Given the description of an element on the screen output the (x, y) to click on. 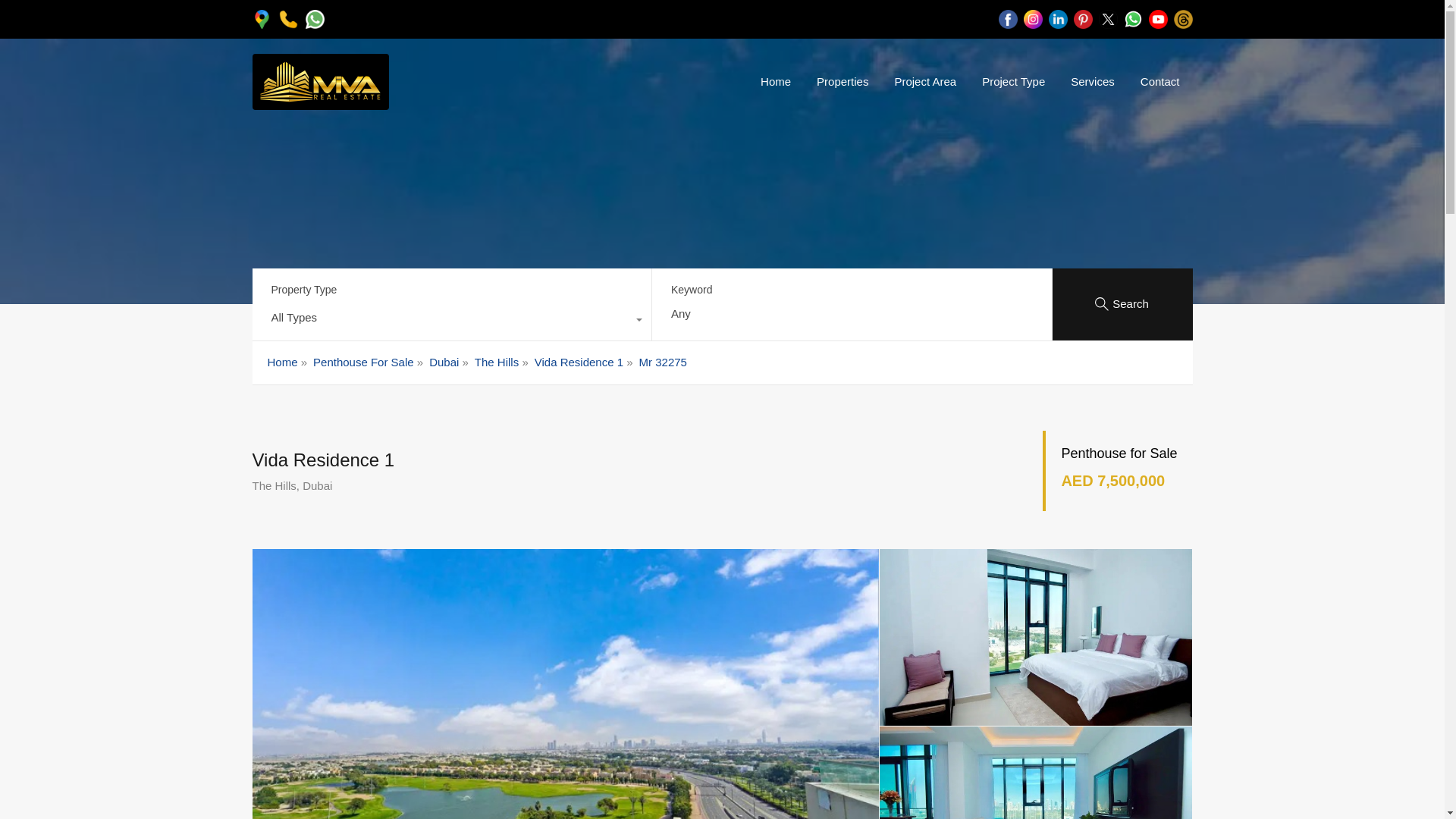
Miva Real Estate (319, 102)
All Types (450, 321)
